Given the description of an element on the screen output the (x, y) to click on. 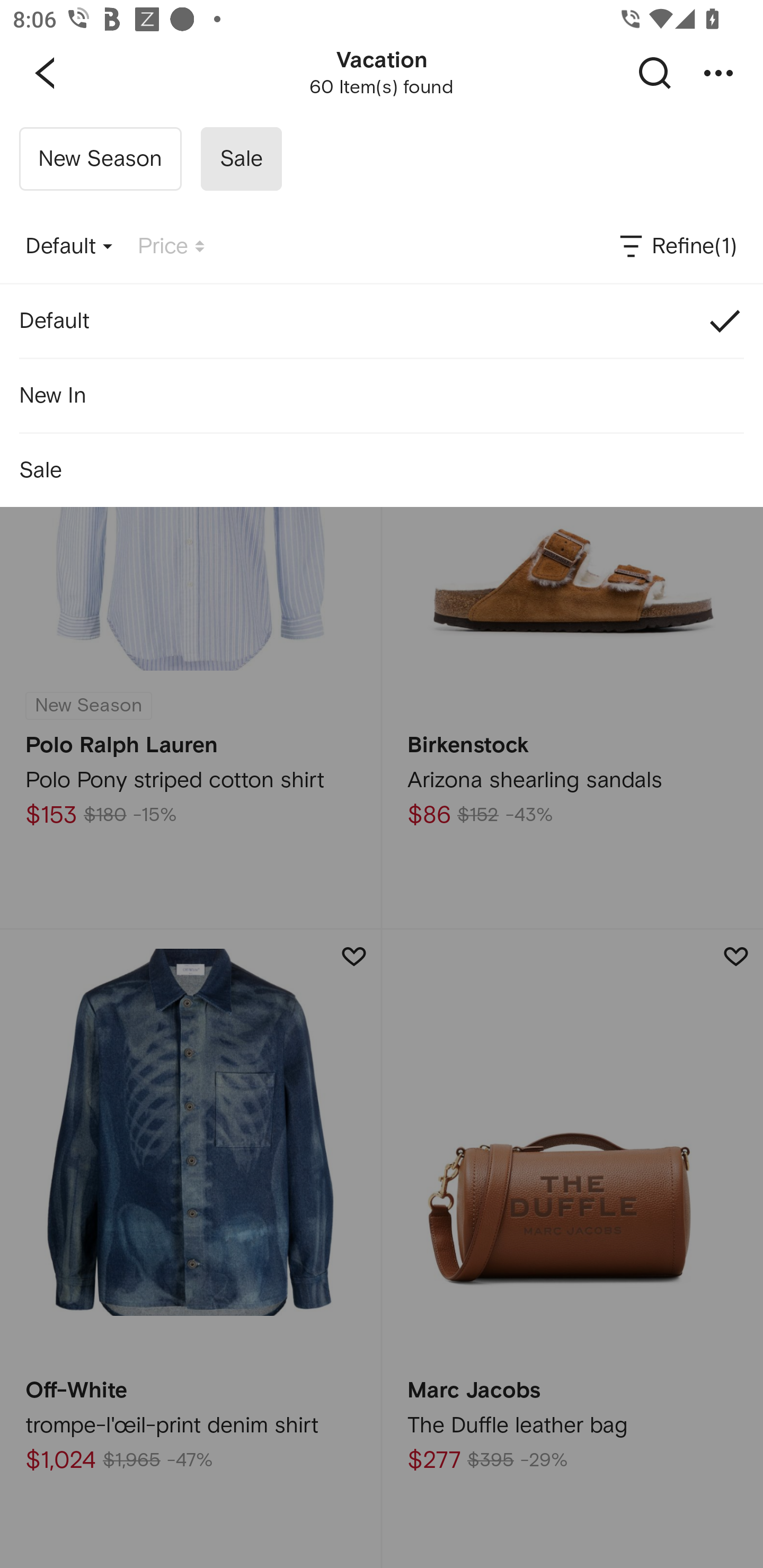
New Season (100, 158)
Sale (240, 158)
Default (68, 246)
Price (171, 246)
Refine(1) (677, 246)
Default (381, 320)
New In (381, 394)
Sale (381, 470)
